Given the description of an element on the screen output the (x, y) to click on. 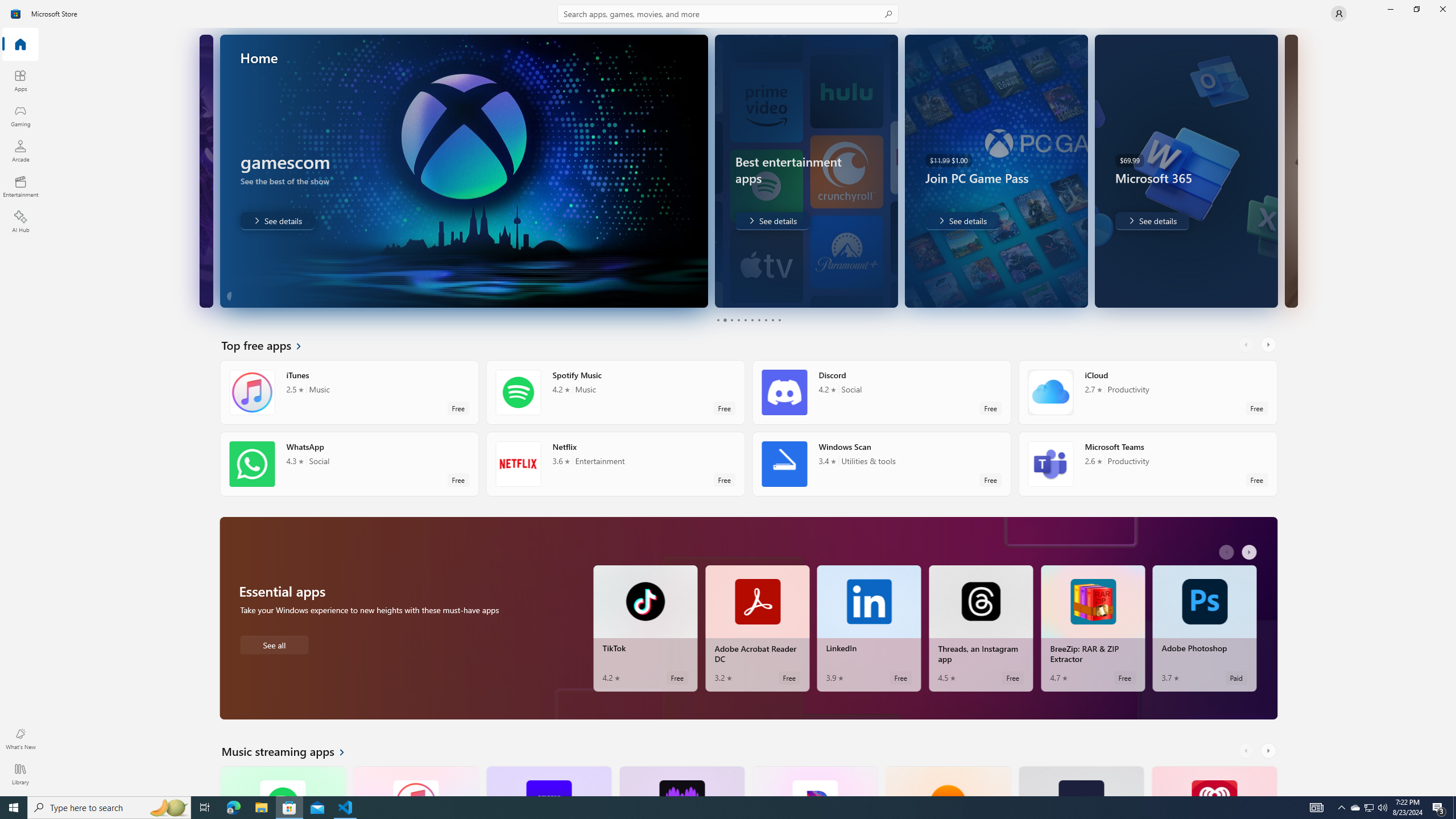
Close Microsoft Store (1442, 9)
Page 10 (779, 319)
gamescom. See the best of the show.  . See details (277, 221)
Gaming (20, 115)
iTunes. Average rating of 2.5 out of five stars. Free   (415, 780)
Library (20, 773)
Pandora. Average rating of 4.5 out of five stars. Free   (814, 780)
Netflix. Average rating of 3.6 out of five stars. Free   (615, 463)
Search (727, 13)
Page 1 (717, 319)
